Given the description of an element on the screen output the (x, y) to click on. 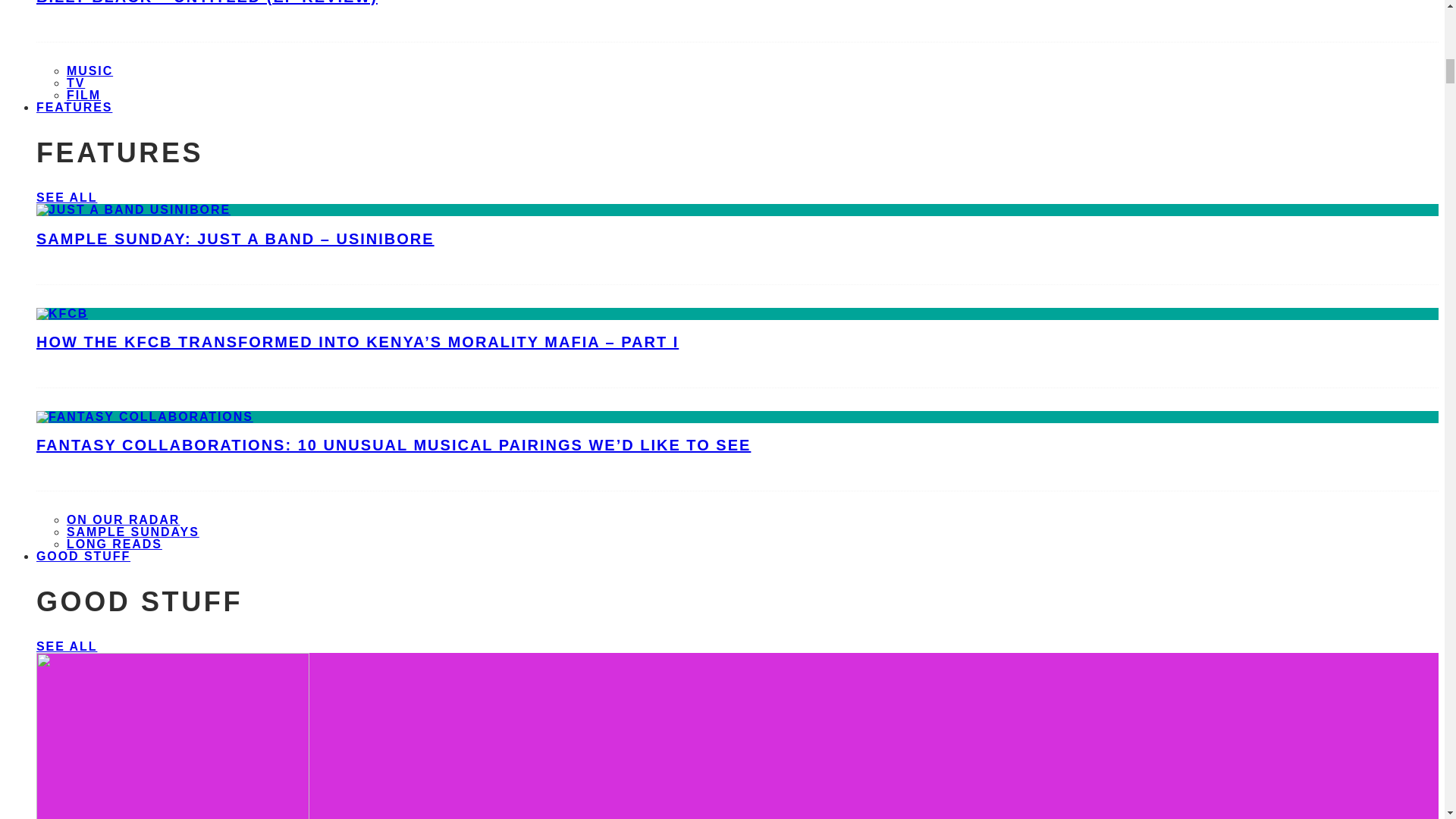
FEATURES (74, 107)
ON OUR RADAR (122, 519)
LONG READS (113, 543)
GOOD STUFF (83, 556)
FILM (83, 94)
SEE ALL (66, 645)
MUSIC (89, 70)
TV (75, 82)
SAMPLE SUNDAYS (132, 531)
SEE ALL (66, 196)
